Given the description of an element on the screen output the (x, y) to click on. 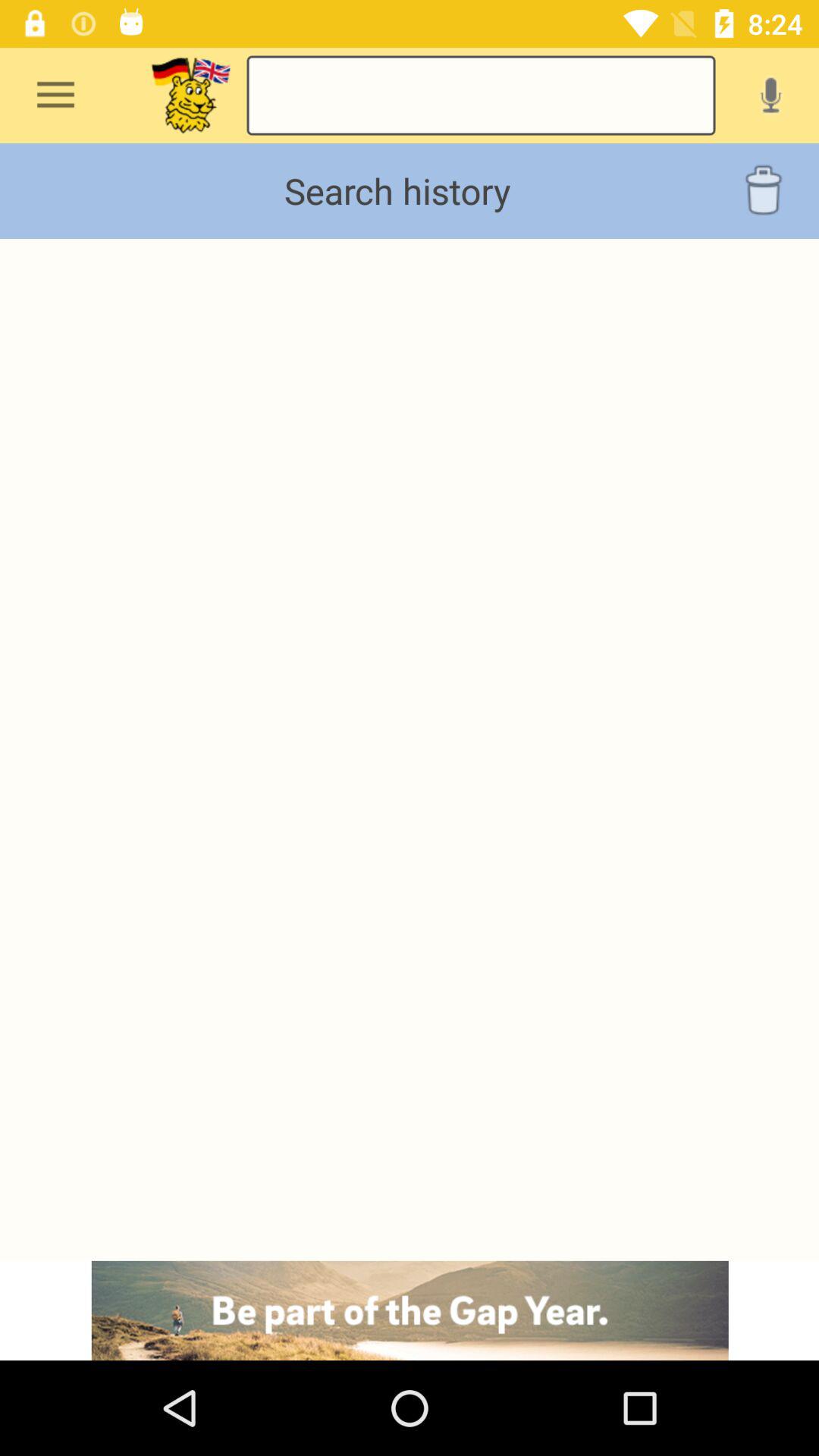
advertisement page (409, 1310)
